Given the description of an element on the screen output the (x, y) to click on. 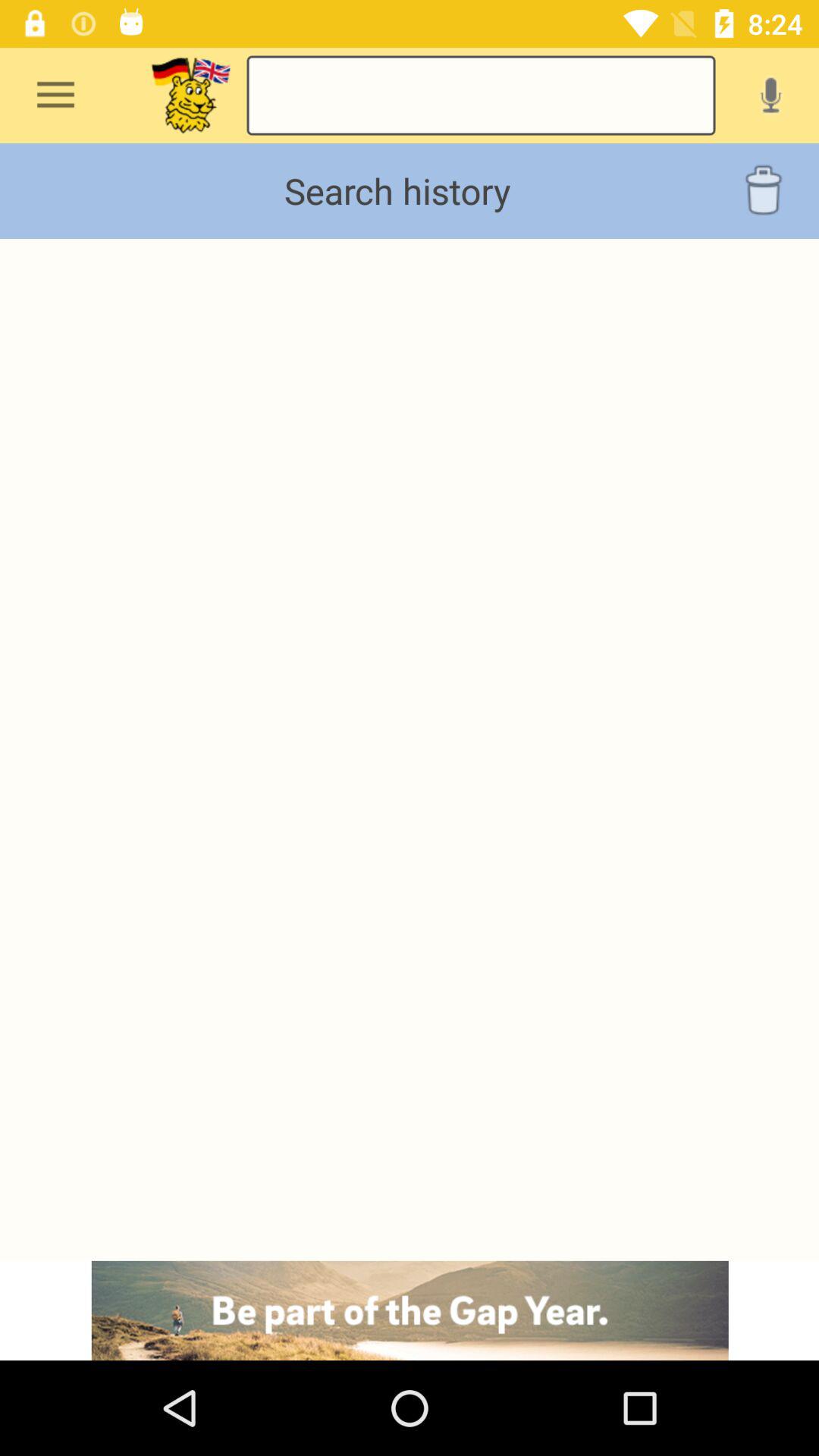
advertisement page (409, 1310)
